Given the description of an element on the screen output the (x, y) to click on. 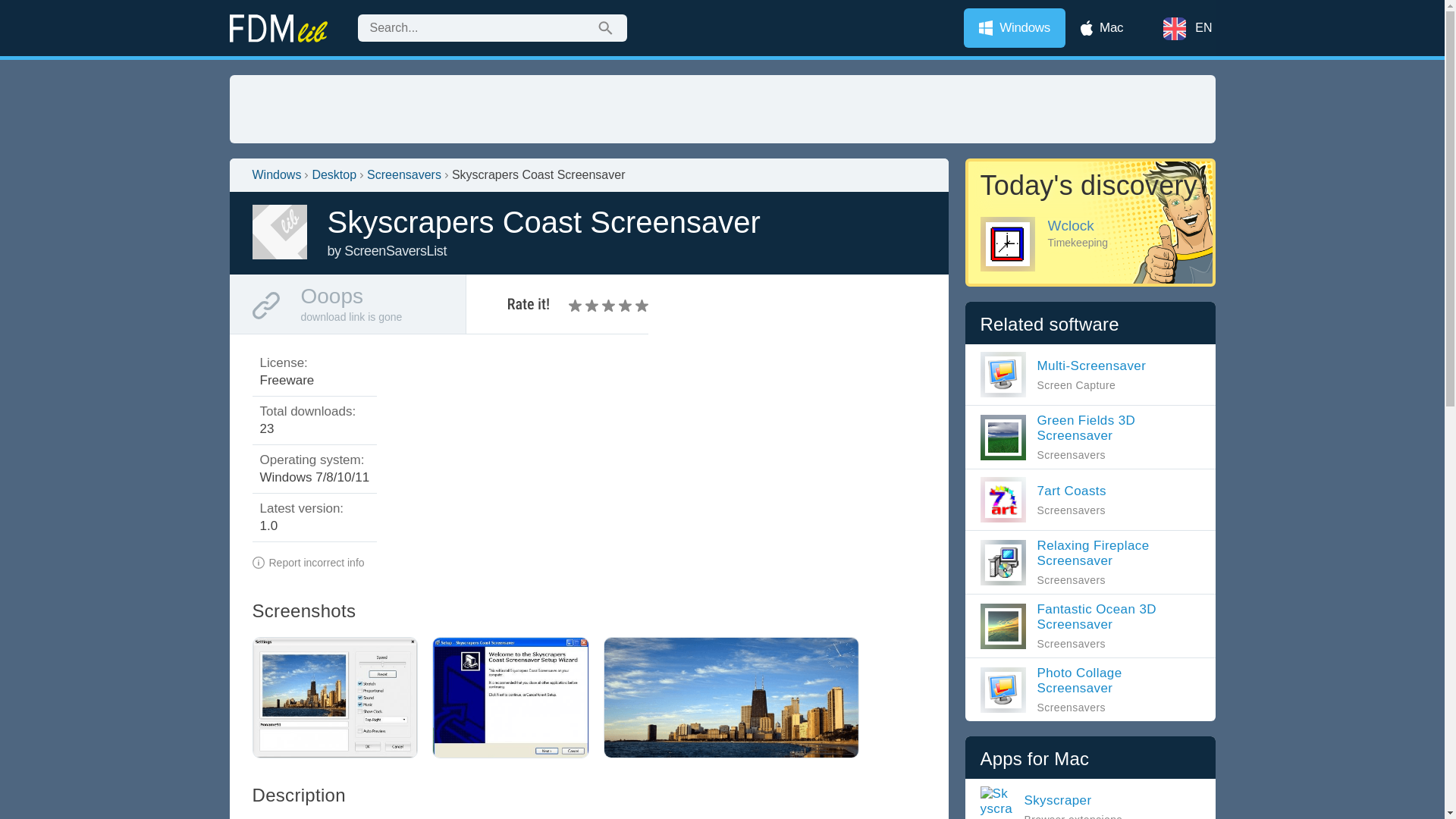
Desktop (333, 174)
4 (601, 304)
1 (576, 304)
Windows (1014, 27)
3rd party ad content (721, 109)
Screensavers (403, 174)
Windows (1062, 374)
